Given the description of an element on the screen output the (x, y) to click on. 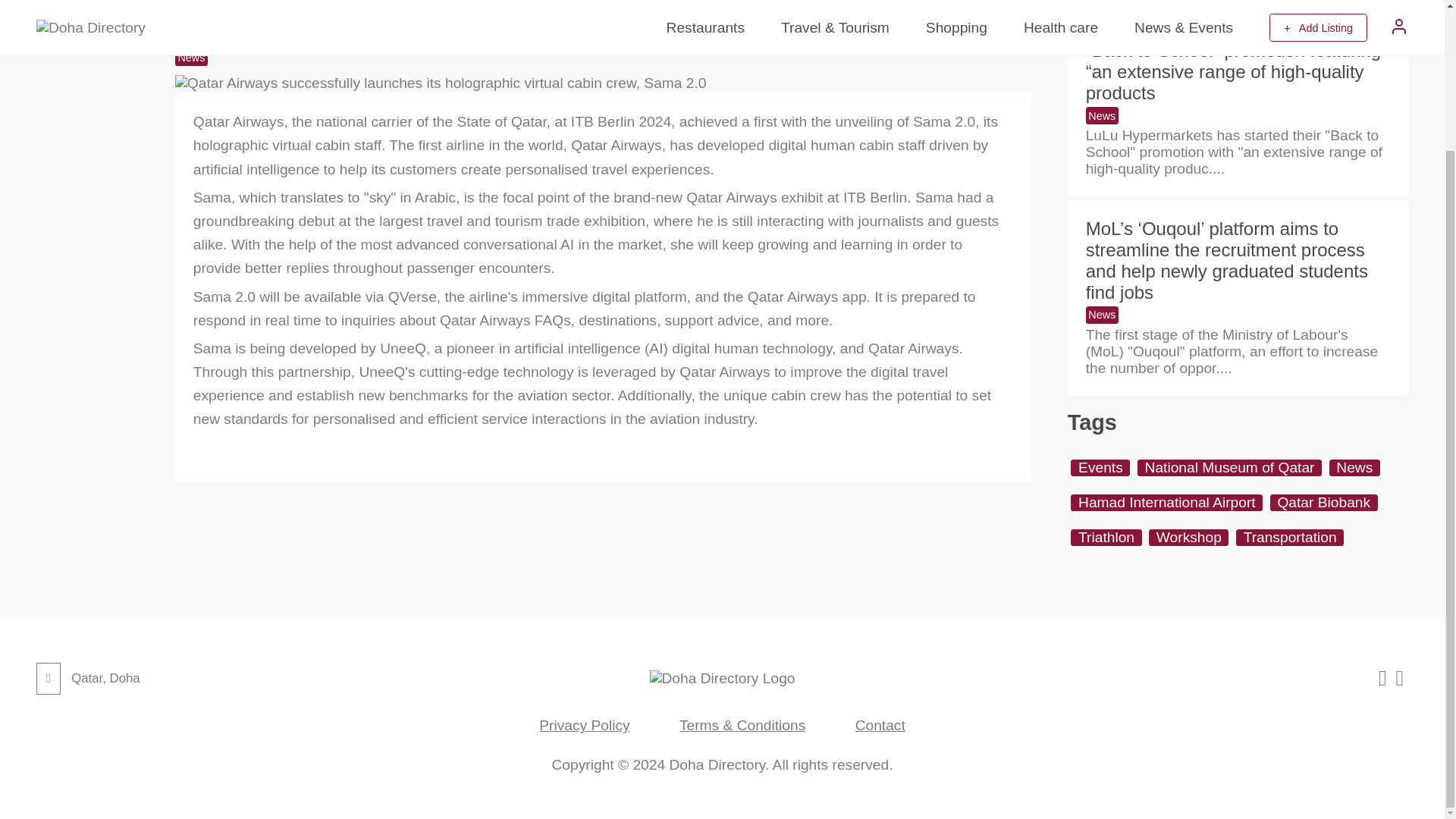
Triathlon (1105, 537)
News (1102, 115)
Transportation (1289, 537)
News (1354, 467)
Events (1099, 467)
Qatar Biobank (1323, 502)
Hamad International Airport (1166, 502)
Contact (880, 725)
Privacy Policy (583, 725)
News (191, 57)
